Given the description of an element on the screen output the (x, y) to click on. 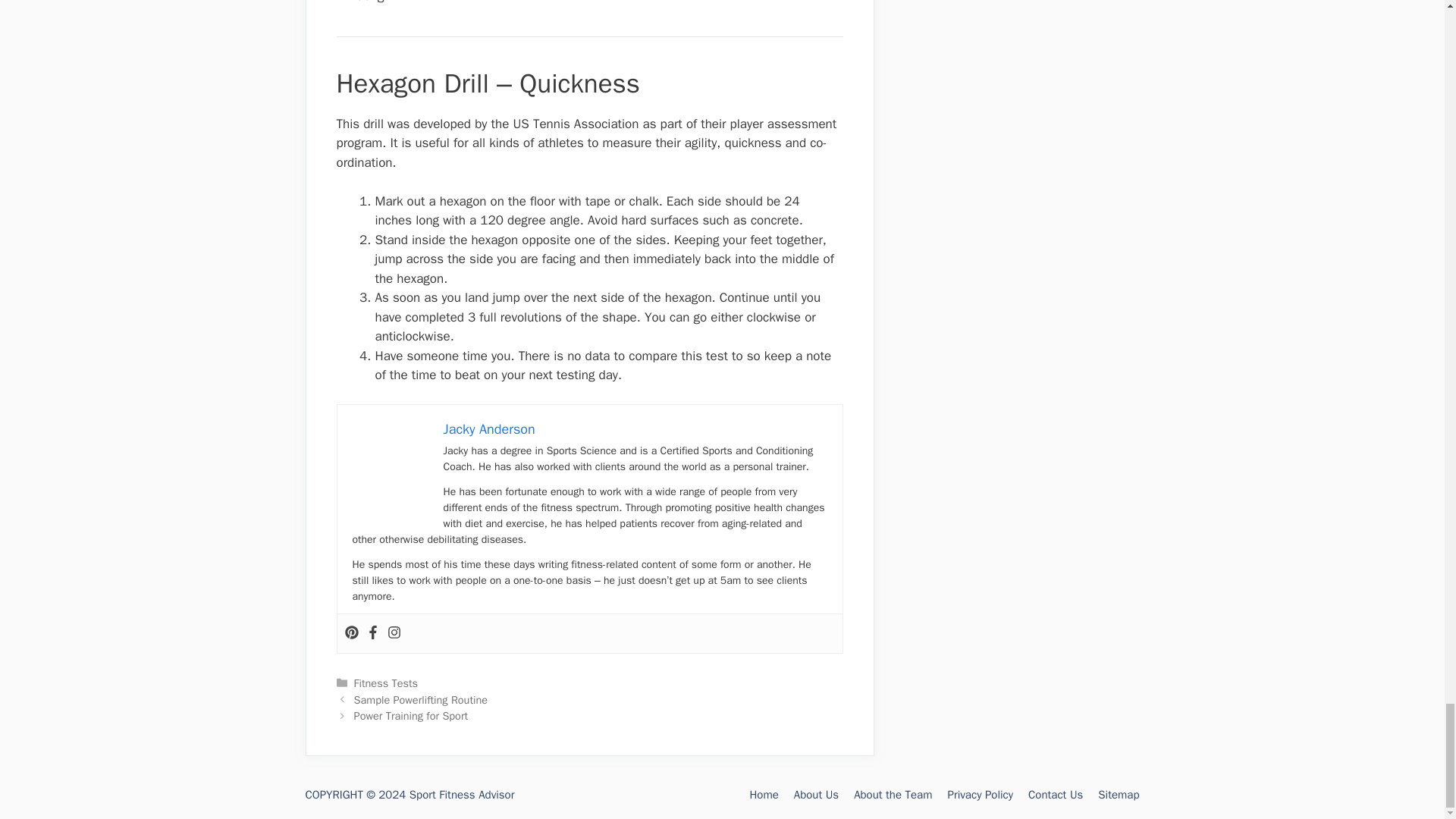
Speed And Power Tests 3 (390, 458)
